Given the description of an element on the screen output the (x, y) to click on. 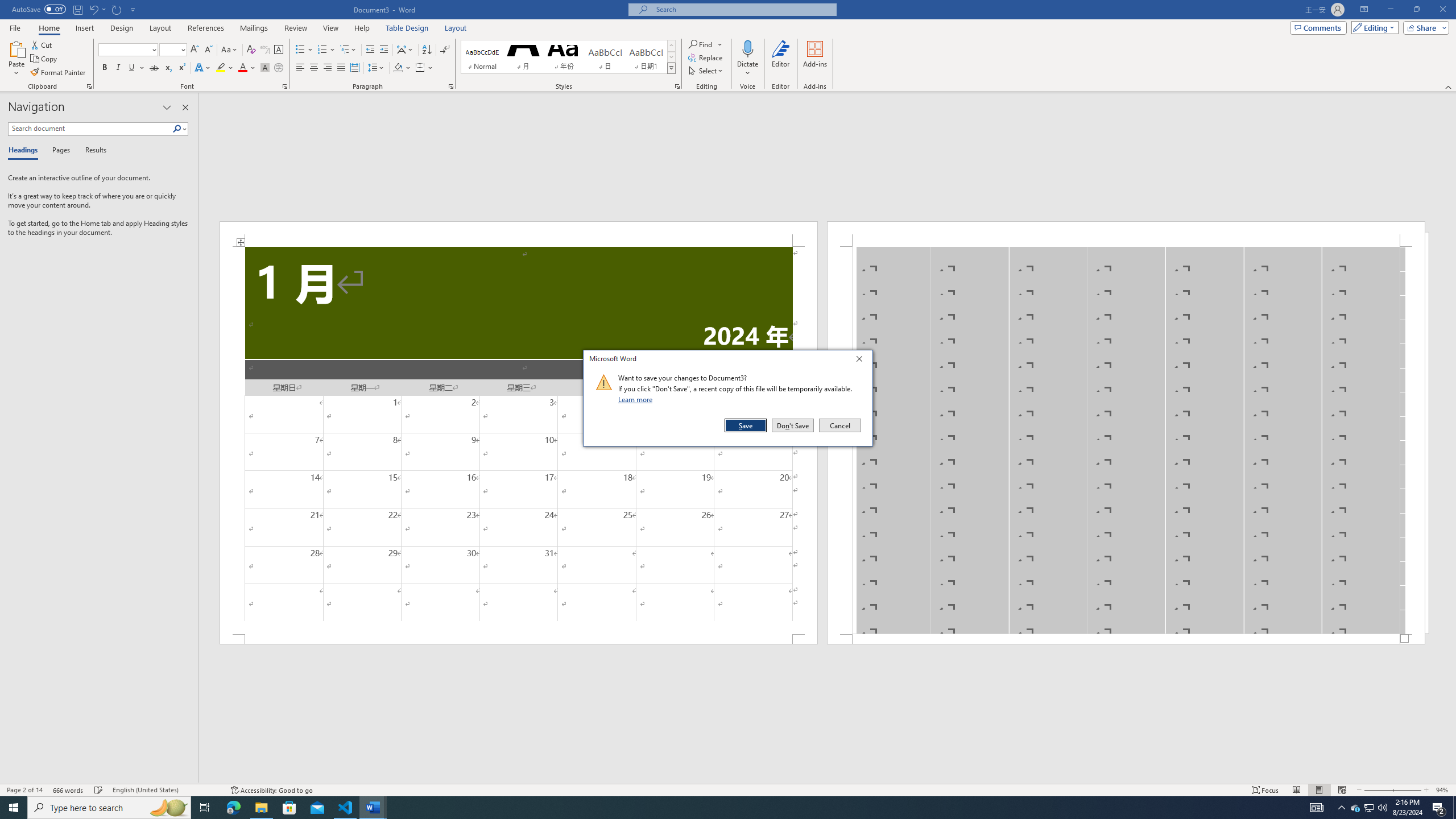
Close (862, 360)
Insert (83, 28)
Type here to search (108, 807)
Text Highlight Color (224, 67)
Line and Paragraph Spacing (376, 67)
Header -Section 1- (1126, 233)
Character Border (278, 49)
Class: MsoCommandBar (728, 789)
Design (122, 28)
Justify (340, 67)
Microsoft Edge (233, 807)
Search (179, 128)
Search highlights icon opens search home window (167, 807)
Strikethrough (154, 67)
Q2790: 100% (1382, 807)
